Given the description of an element on the screen output the (x, y) to click on. 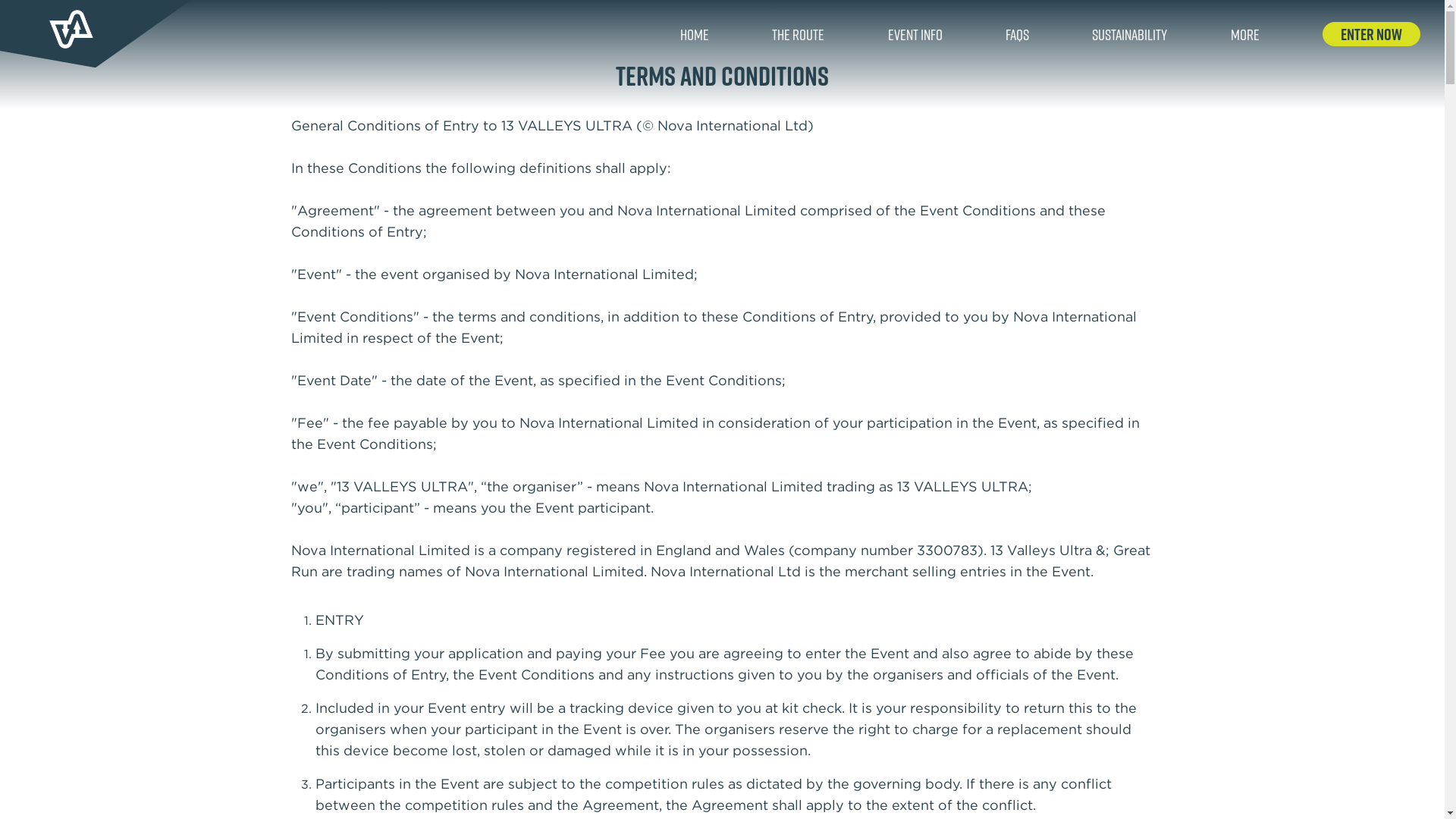
FAQS Element type: text (1017, 33)
SUSTAINABILITY Element type: text (1129, 33)
EVENT INFO Element type: text (915, 33)
HOME Element type: text (694, 33)
ENTER NOW Element type: text (1371, 33)
THE ROUTE Element type: text (797, 33)
